Given the description of an element on the screen output the (x, y) to click on. 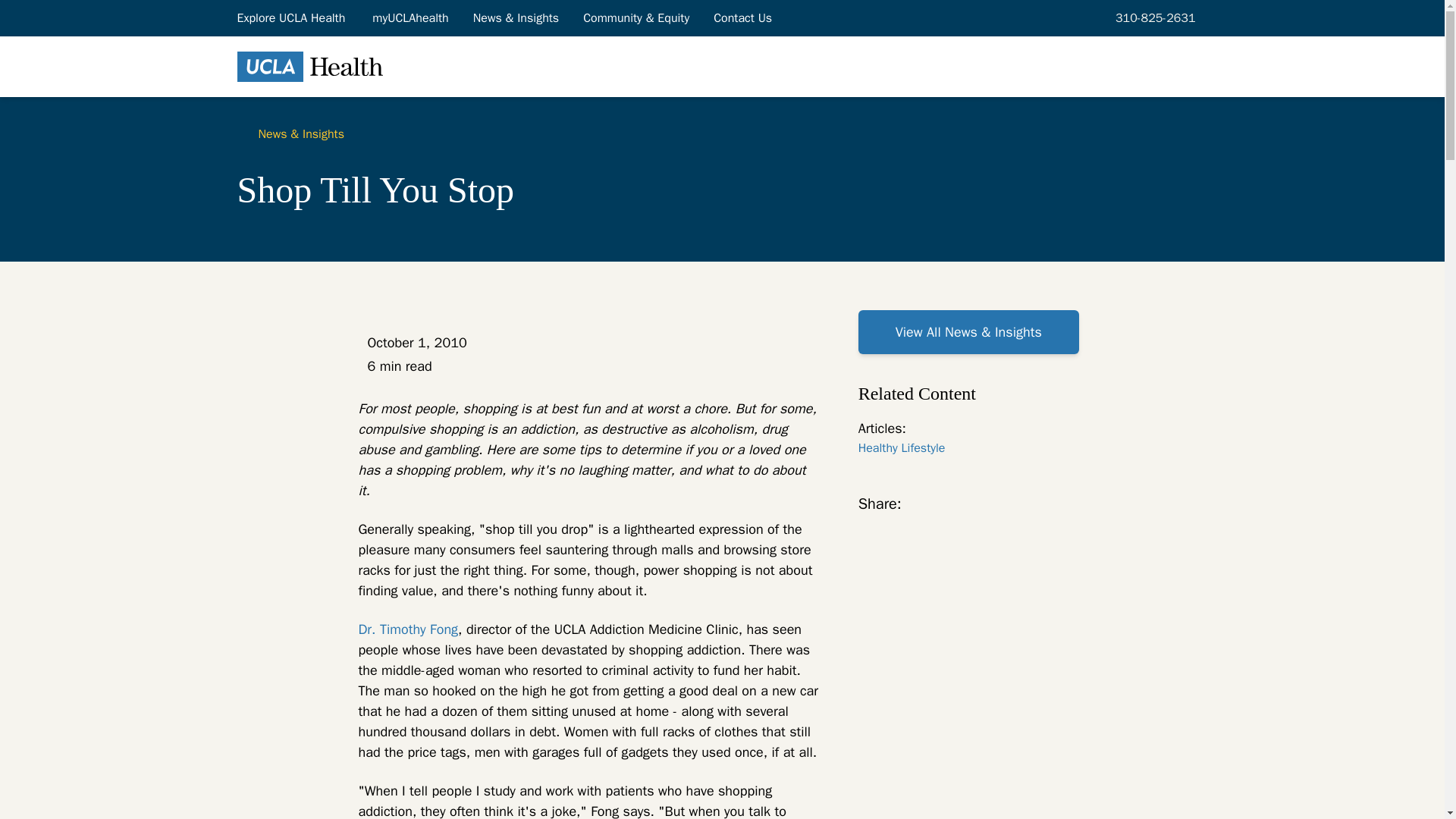
myUCLAhealth (409, 17)
myUCLAhealth Login. (409, 17)
310-825-2631 (1152, 17)
Explore UCLA Health (291, 17)
Contact Us (742, 17)
